Given the description of an element on the screen output the (x, y) to click on. 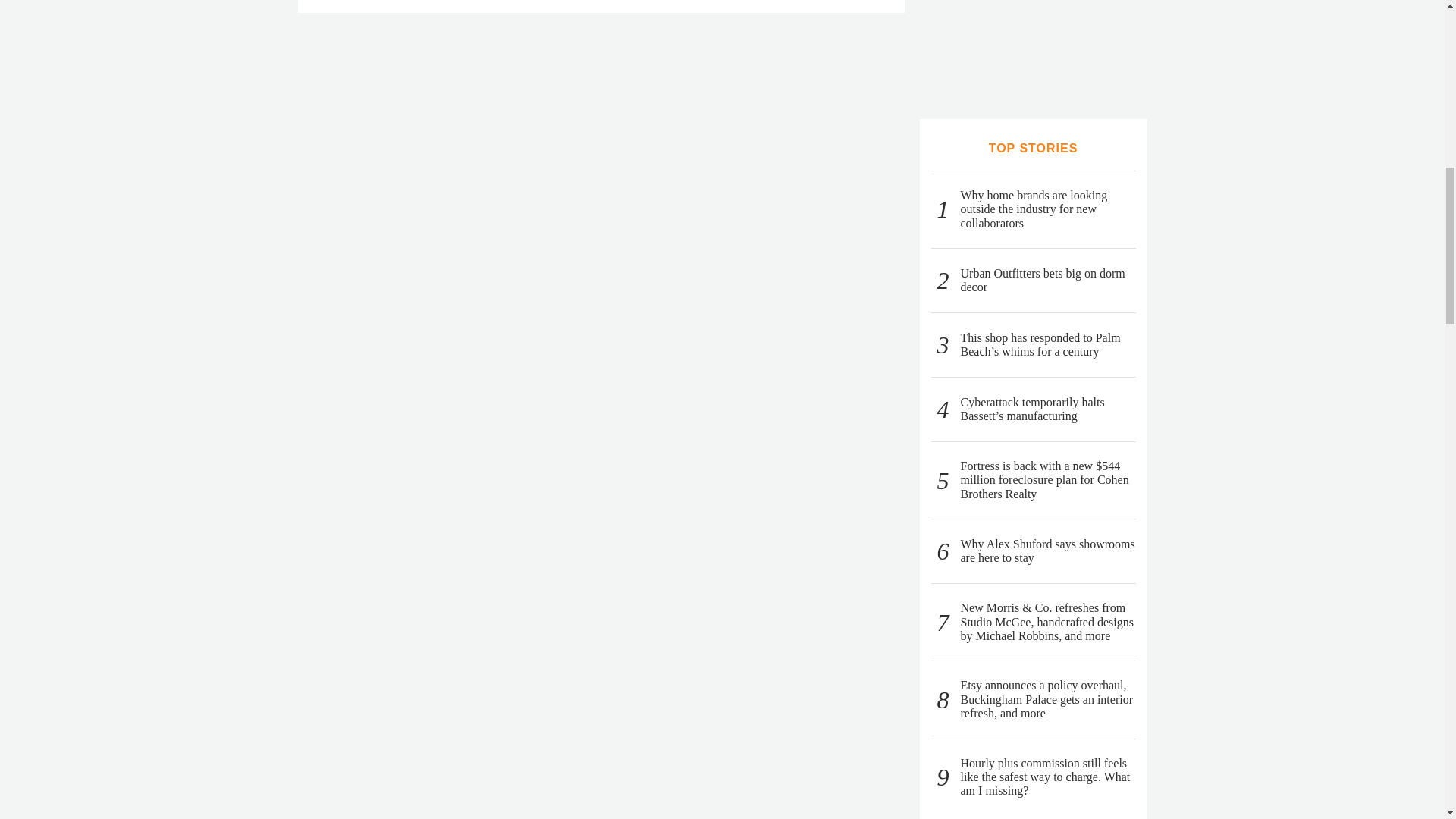
3rd party ad content (1032, 44)
